Given the description of an element on the screen output the (x, y) to click on. 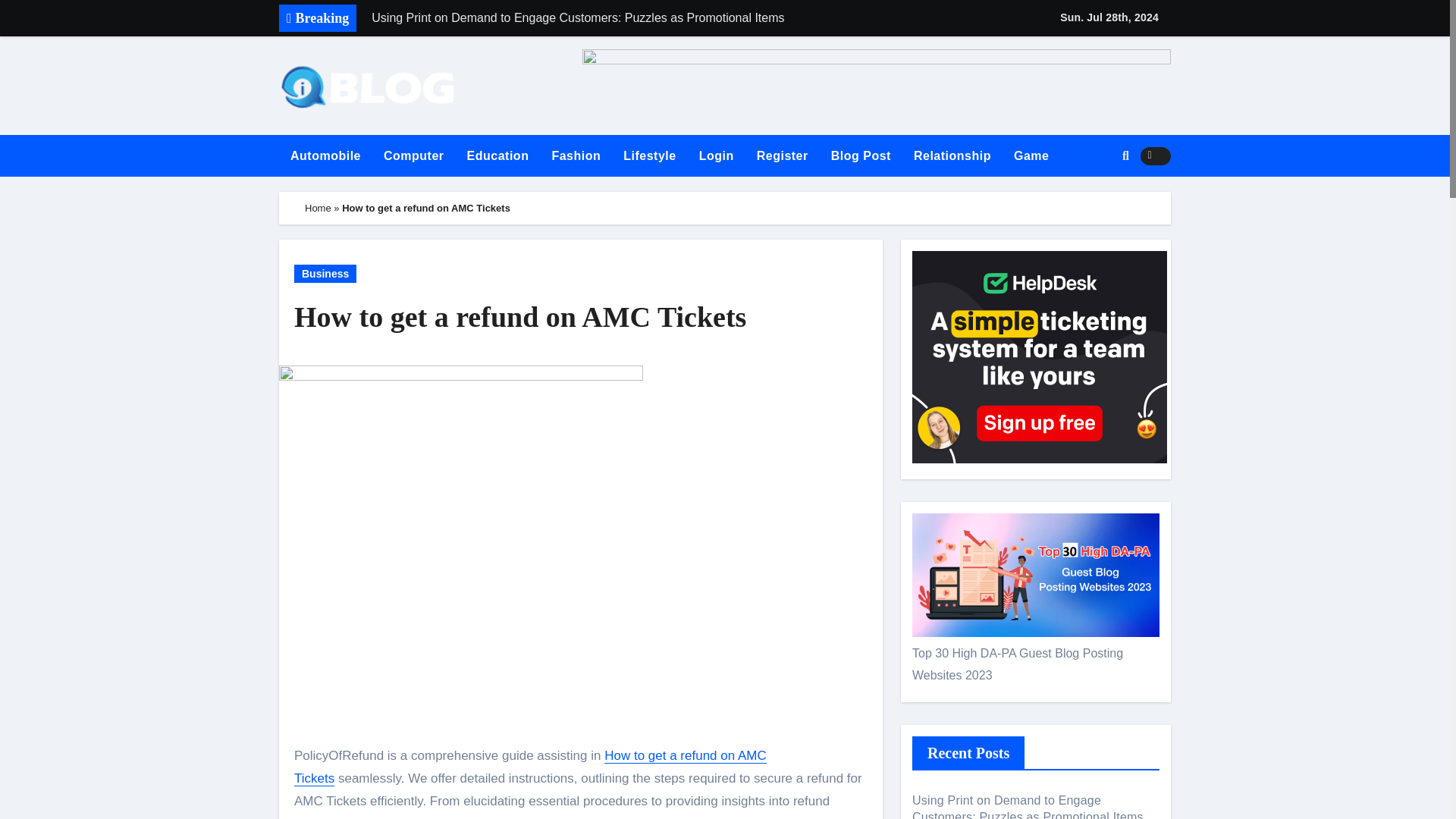
Lifestyle (649, 155)
Education (497, 155)
Automobile (325, 155)
Login (716, 155)
Lifestyle (649, 155)
Fashion (575, 155)
Game (1031, 155)
Computer (413, 155)
Automobile (325, 155)
Relationship (952, 155)
Blog Post (860, 155)
Register (782, 155)
How to get a refund on AMC Tickets (580, 317)
Education (497, 155)
